Given the description of an element on the screen output the (x, y) to click on. 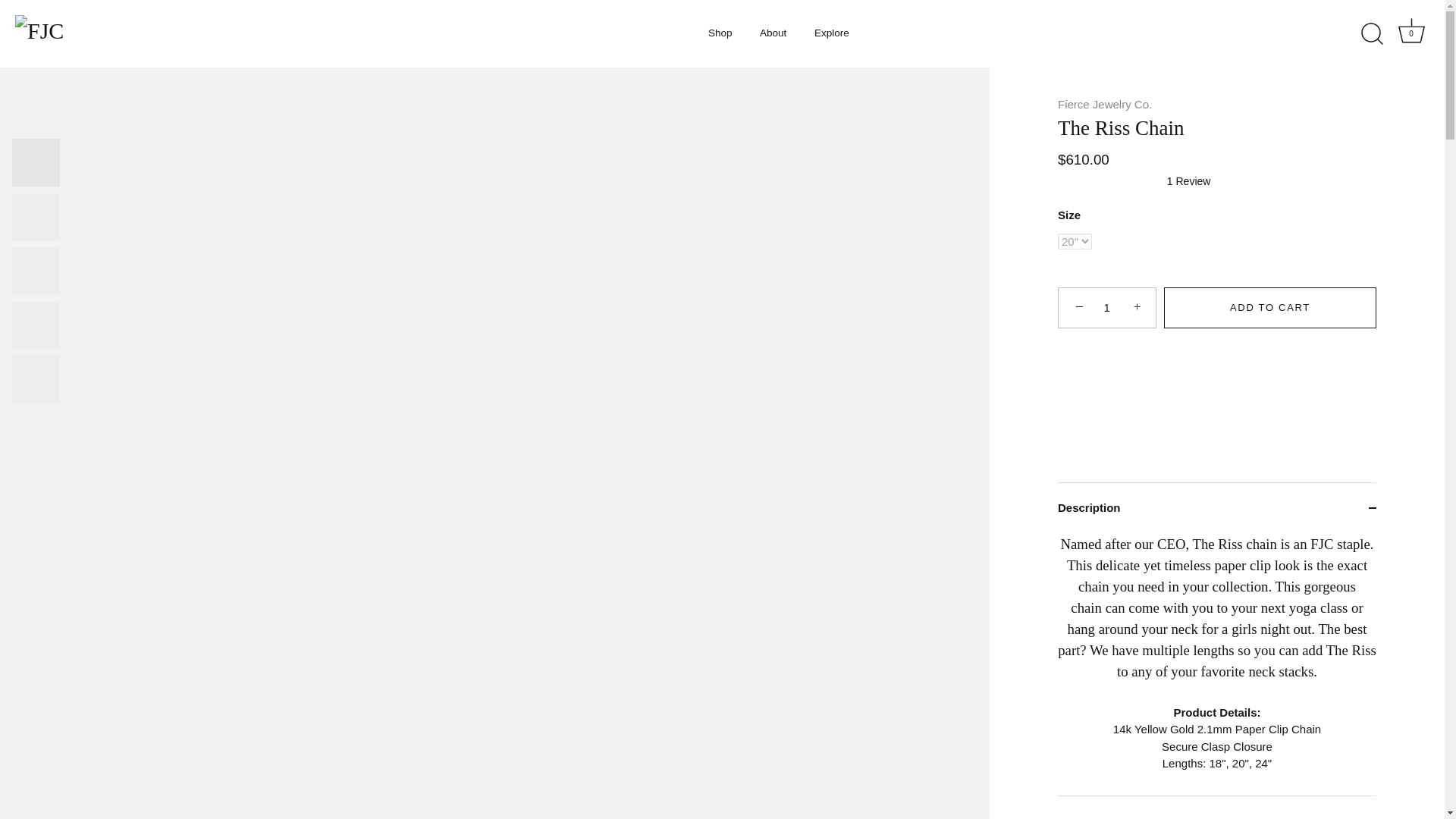
1 (1106, 307)
Cart (1411, 30)
Shop (719, 33)
Explore (831, 33)
About (1411, 33)
